Given the description of an element on the screen output the (x, y) to click on. 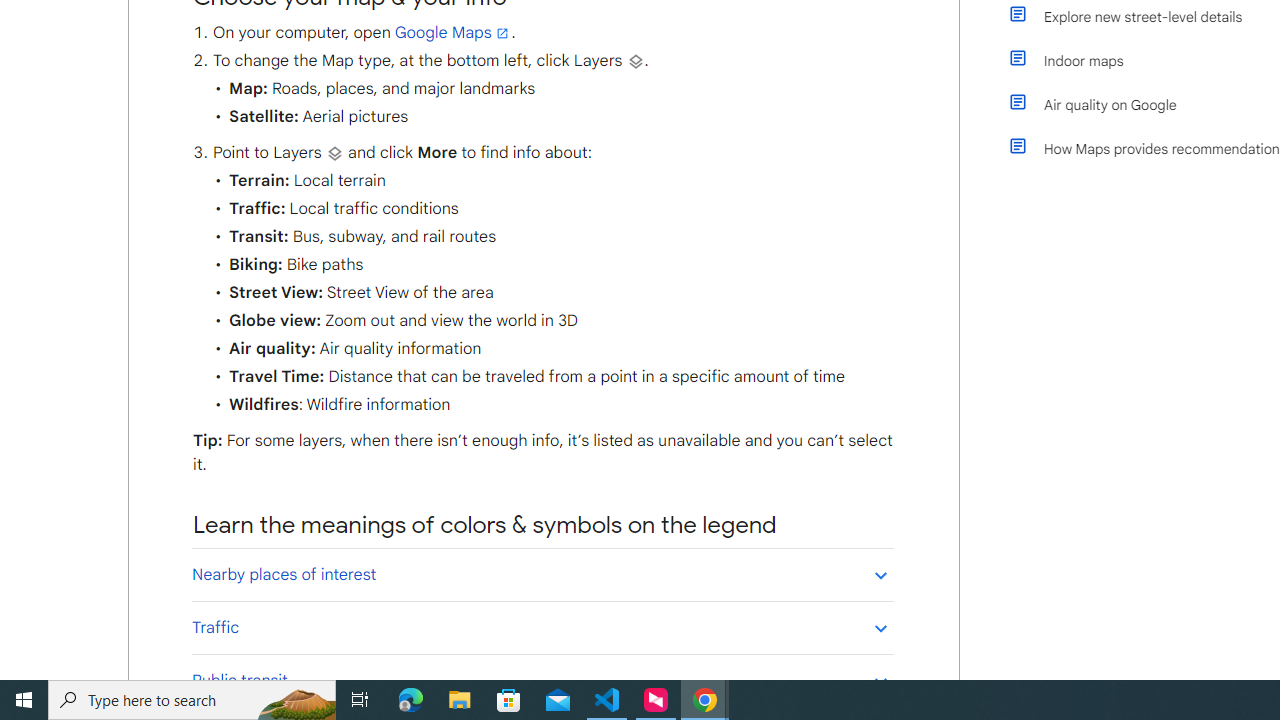
Traffic (542, 627)
Layers (334, 153)
Public transit (542, 680)
Google Maps (453, 33)
Nearby places of interest (542, 574)
